Given the description of an element on the screen output the (x, y) to click on. 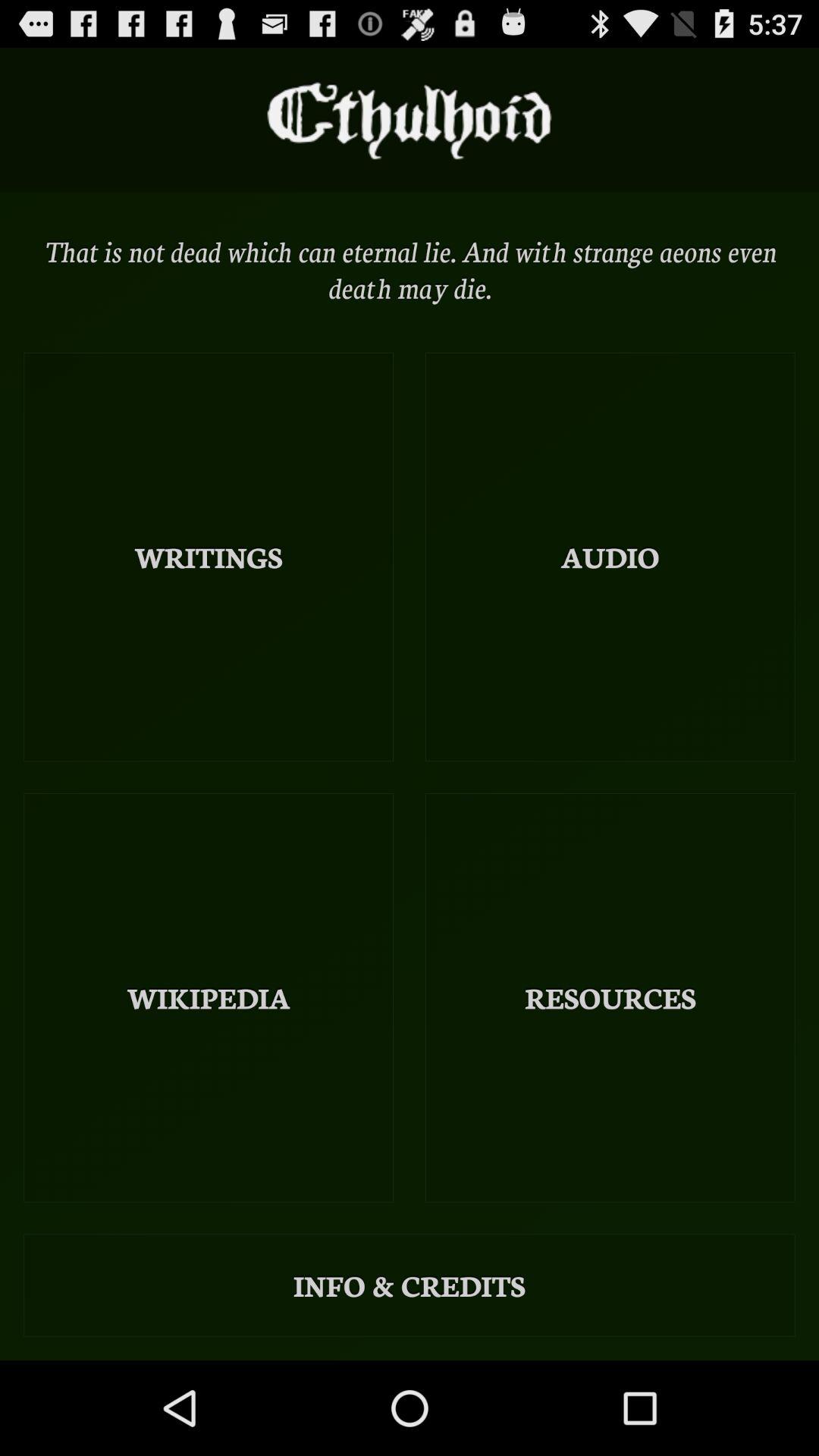
select wikipedia at the bottom left corner (208, 997)
